Given the description of an element on the screen output the (x, y) to click on. 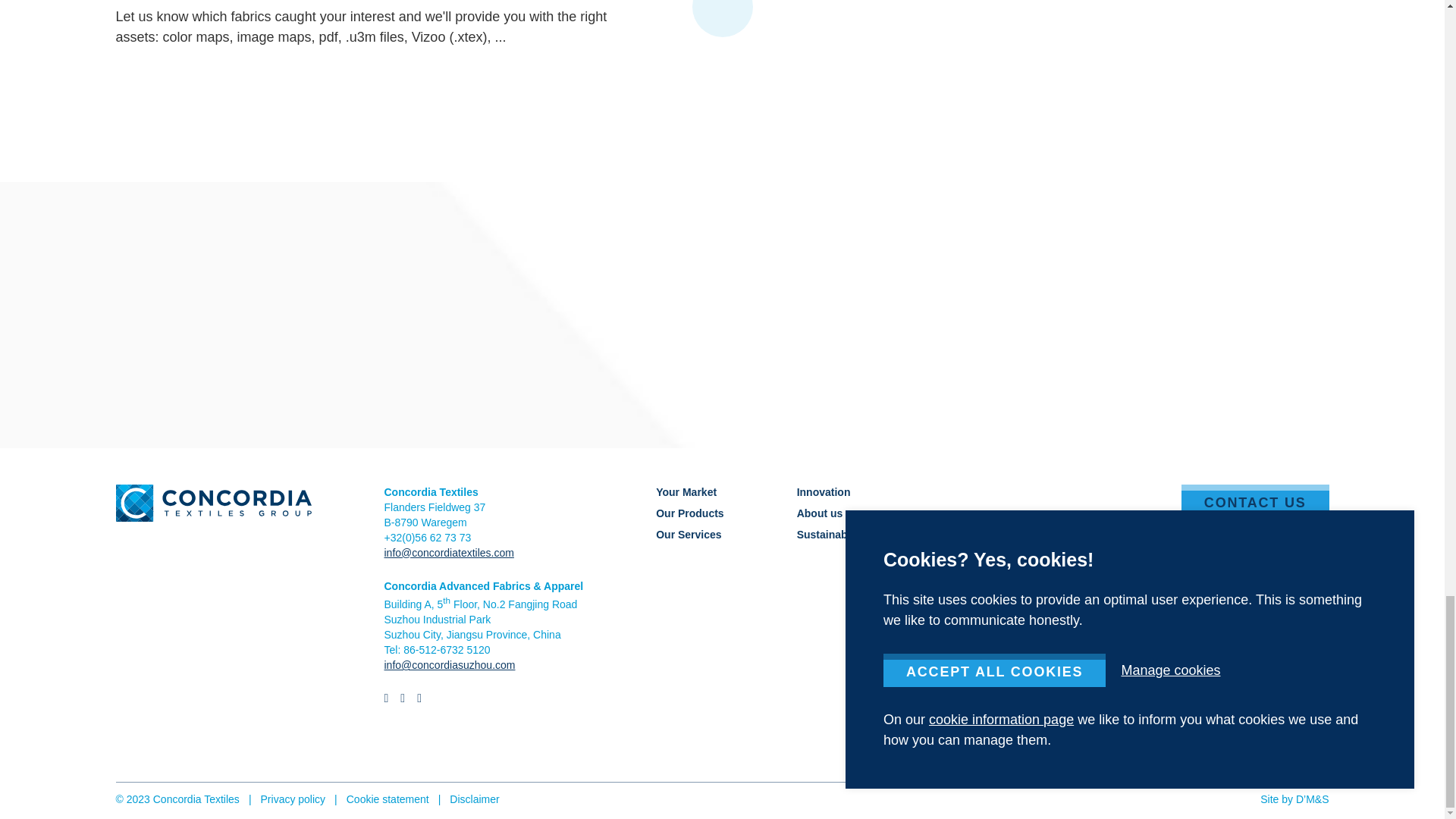
Subscribe (1276, 573)
Here you can find the services we offer (688, 534)
